Given the description of an element on the screen output the (x, y) to click on. 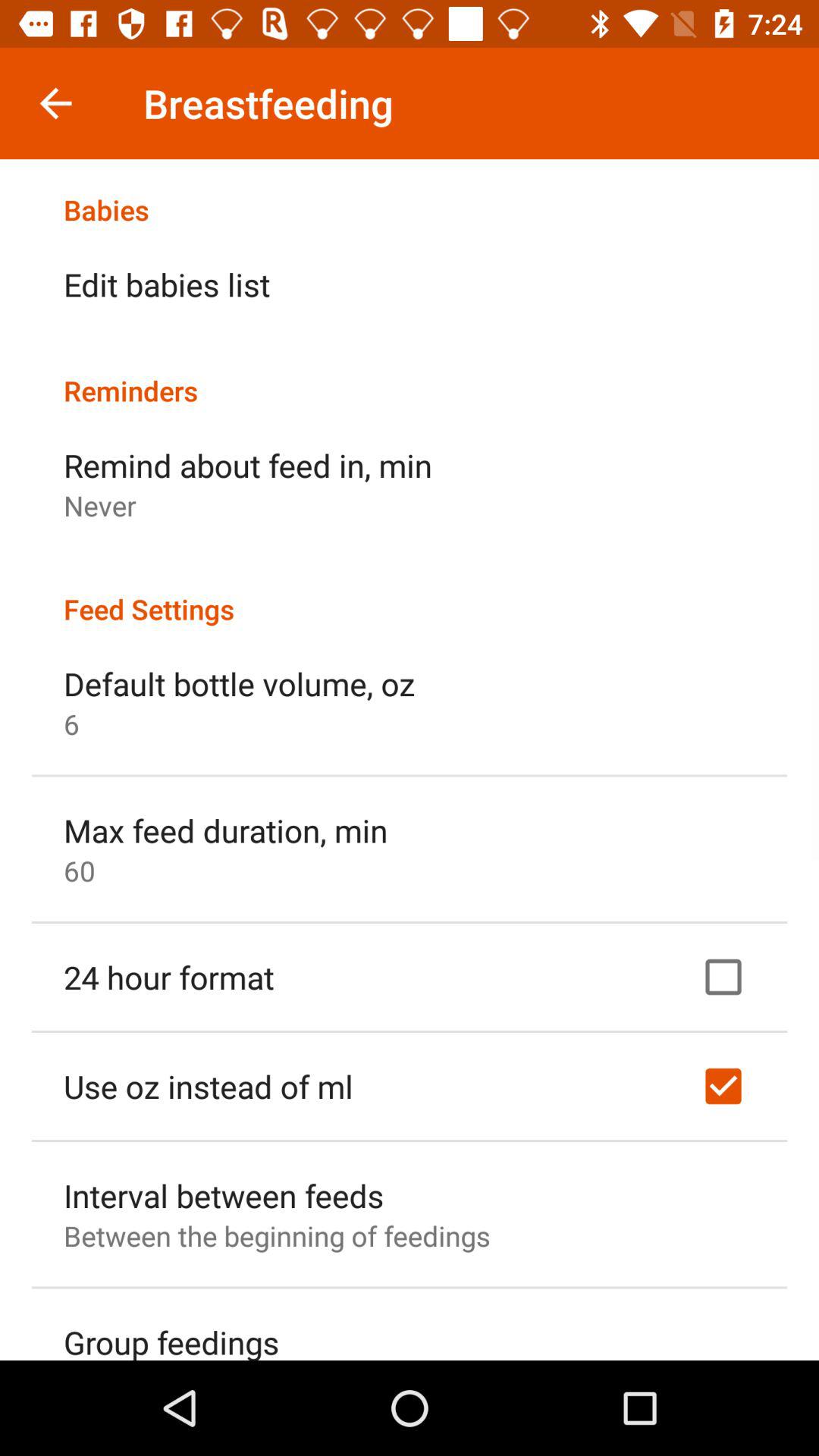
jump to the group feedings icon (171, 1340)
